Given the description of an element on the screen output the (x, y) to click on. 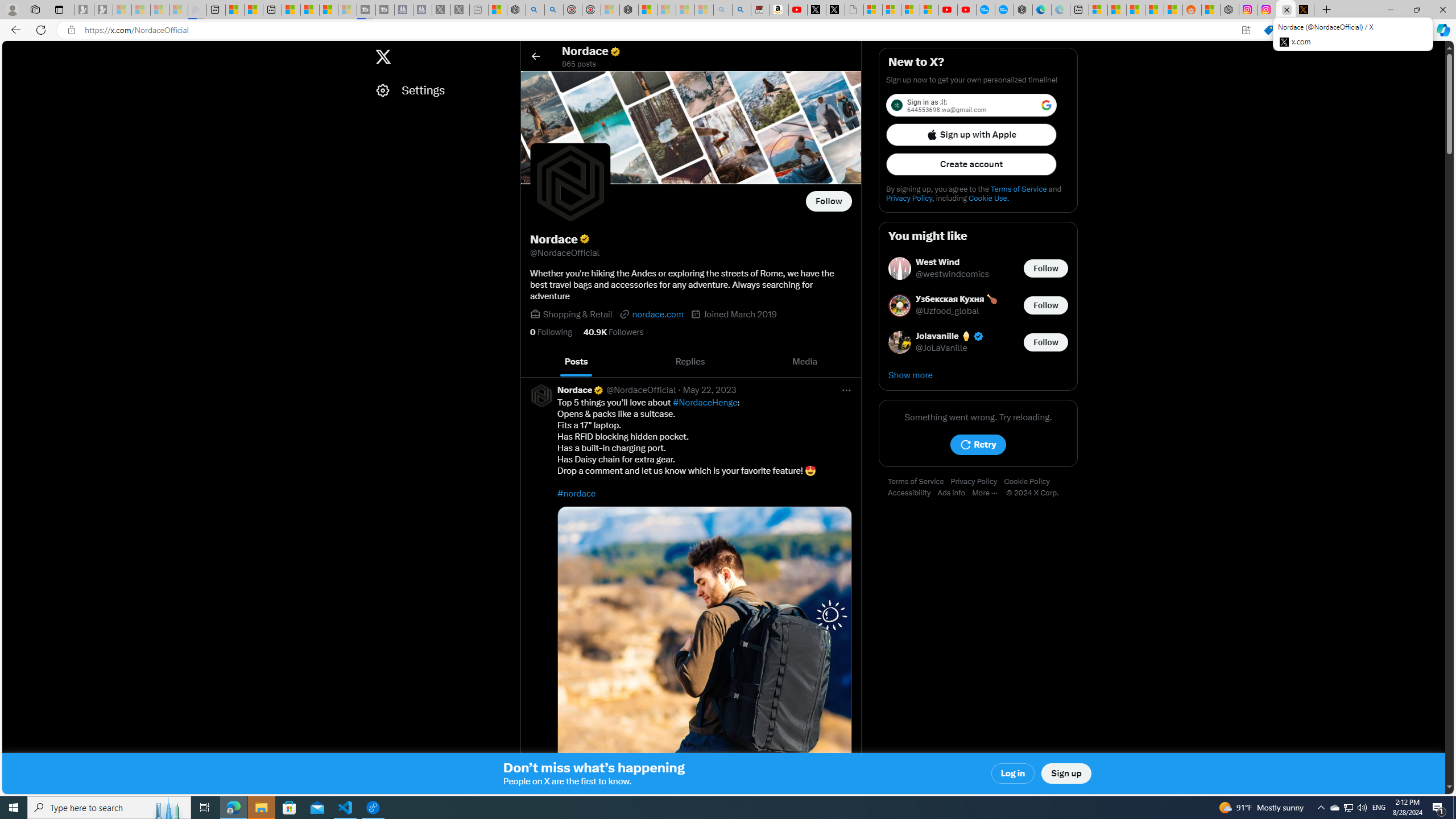
Sign up (1066, 773)
nordace.com (651, 313)
Skip to trending (12, 50)
Nordace Verified account (580, 389)
Square profile picture and Opens profile photo (569, 182)
40.9K Followers (612, 331)
